Given the description of an element on the screen output the (x, y) to click on. 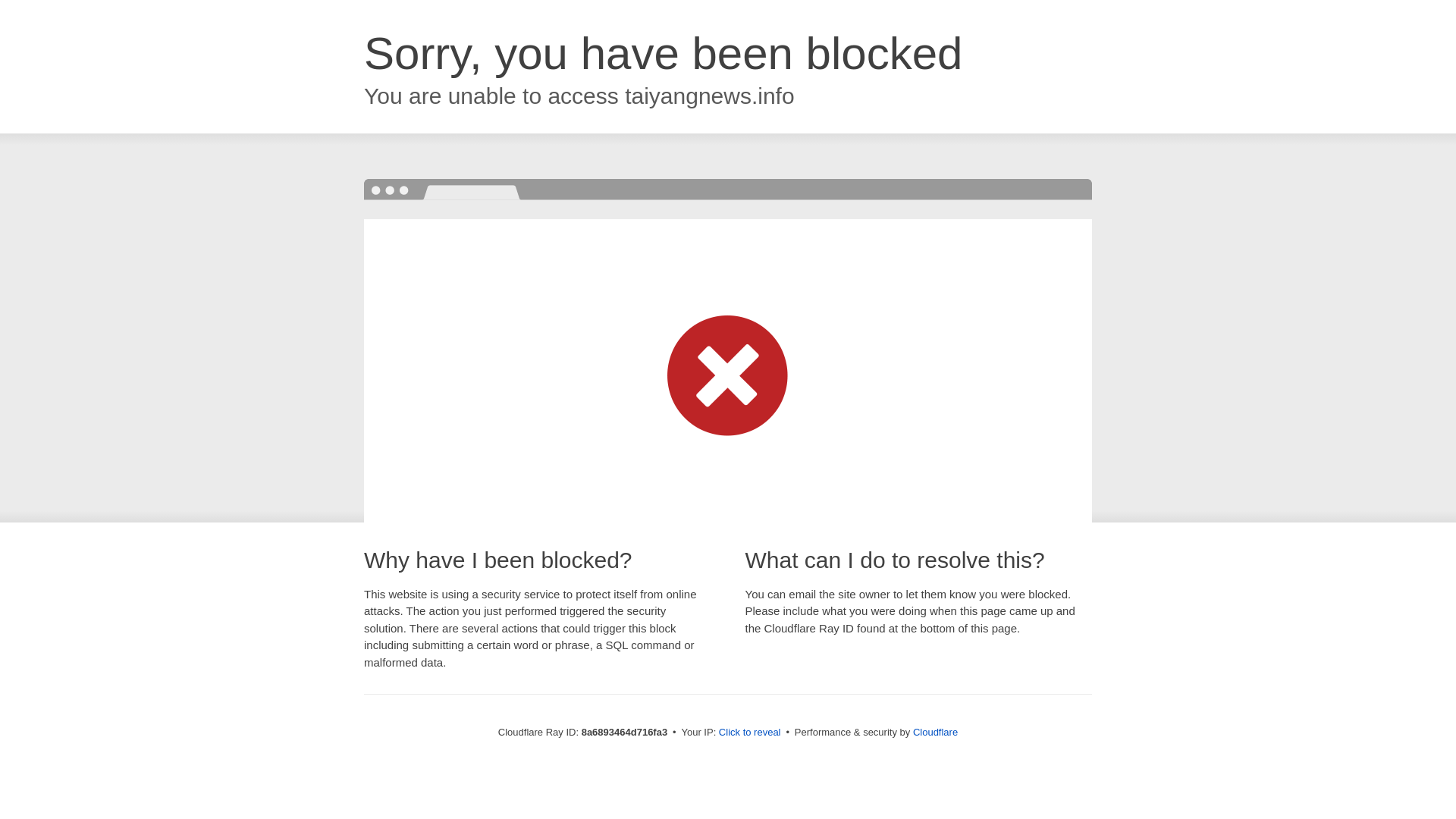
Click to reveal (749, 732)
Cloudflare (935, 731)
